Given the description of an element on the screen output the (x, y) to click on. 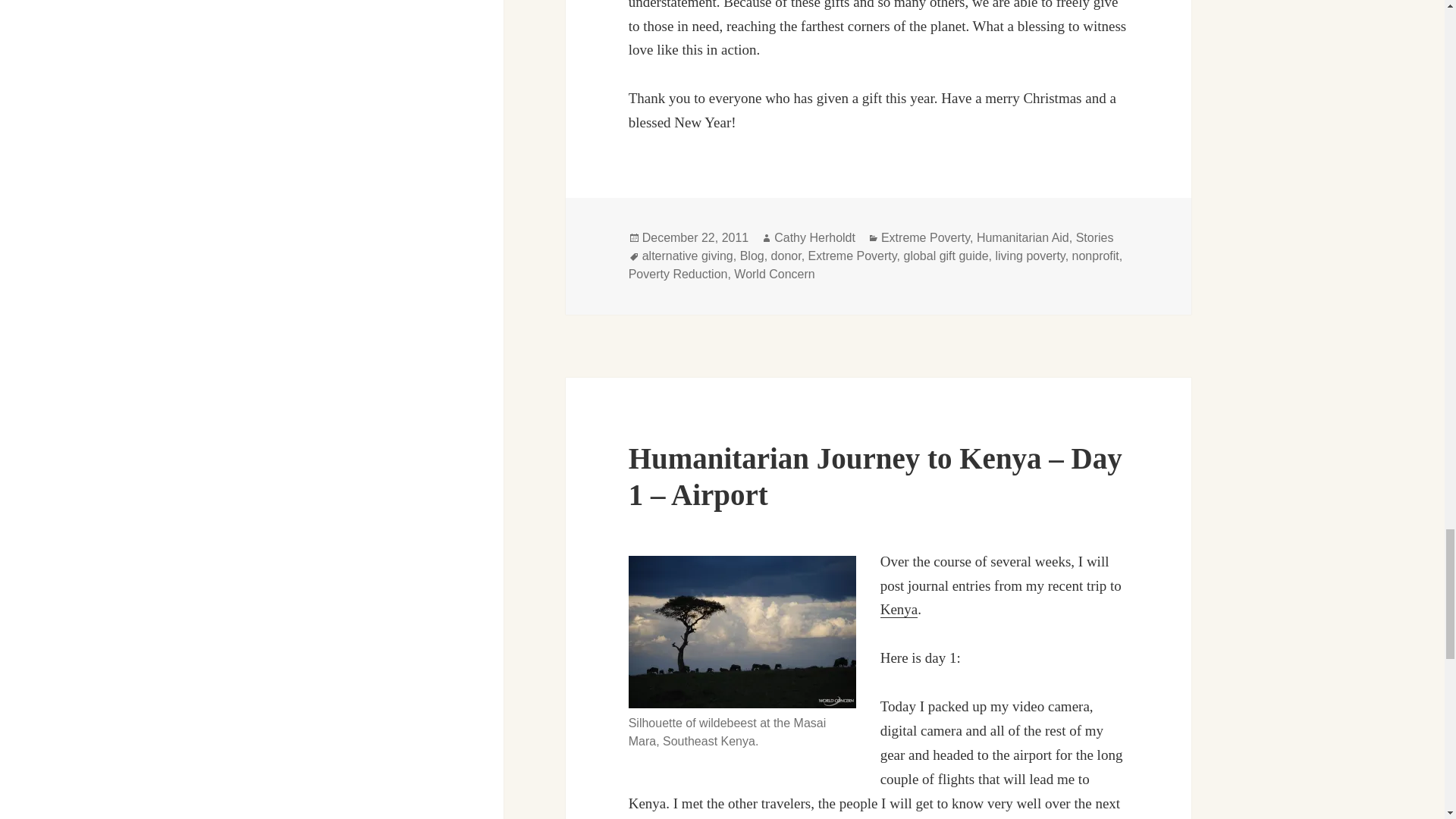
kenya, africa (899, 609)
Extreme Poverty (924, 237)
Cathy Herholdt (815, 237)
masai-mara-evening (742, 632)
December 22, 2011 (695, 237)
